Given the description of an element on the screen output the (x, y) to click on. 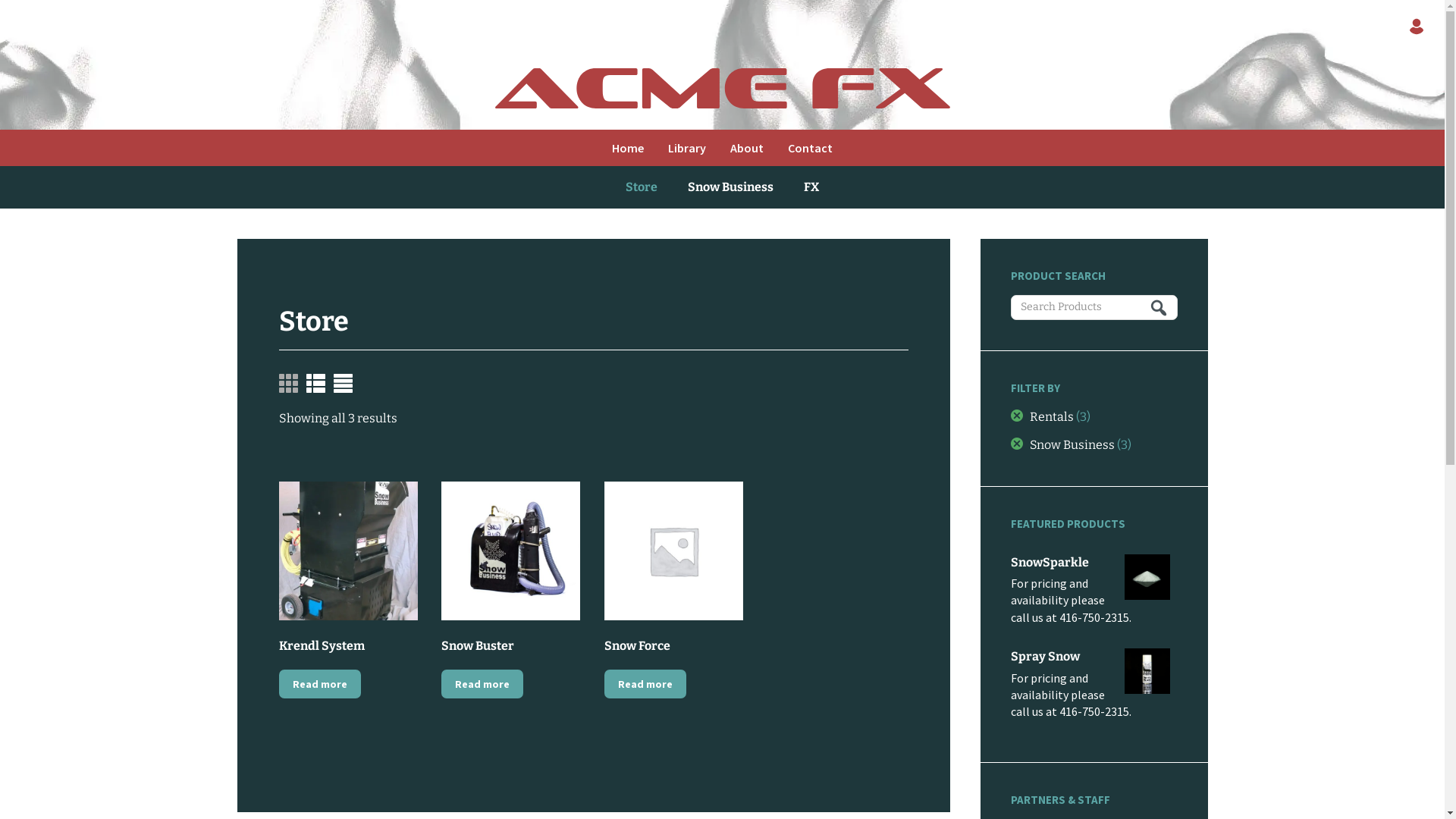
Snow Force Element type: text (673, 569)
About Element type: text (746, 147)
Read more Element type: text (482, 683)
FX Element type: text (811, 187)
Store Element type: text (641, 187)
SnowSparkle Element type: text (1093, 564)
Read more Element type: text (319, 683)
Snow Business Element type: text (730, 187)
Spray Snow Element type: text (1093, 658)
Skip to primary navigation Element type: text (0, 0)
Home Element type: text (627, 147)
Contact Element type: text (809, 147)
Library Element type: text (686, 147)
Snow Business Element type: text (1062, 444)
Read more Element type: text (645, 683)
Snow Buster Element type: text (510, 569)
Rentals Element type: text (1041, 416)
Store Element type: text (313, 321)
Krendl System Element type: text (348, 569)
